Given the description of an element on the screen output the (x, y) to click on. 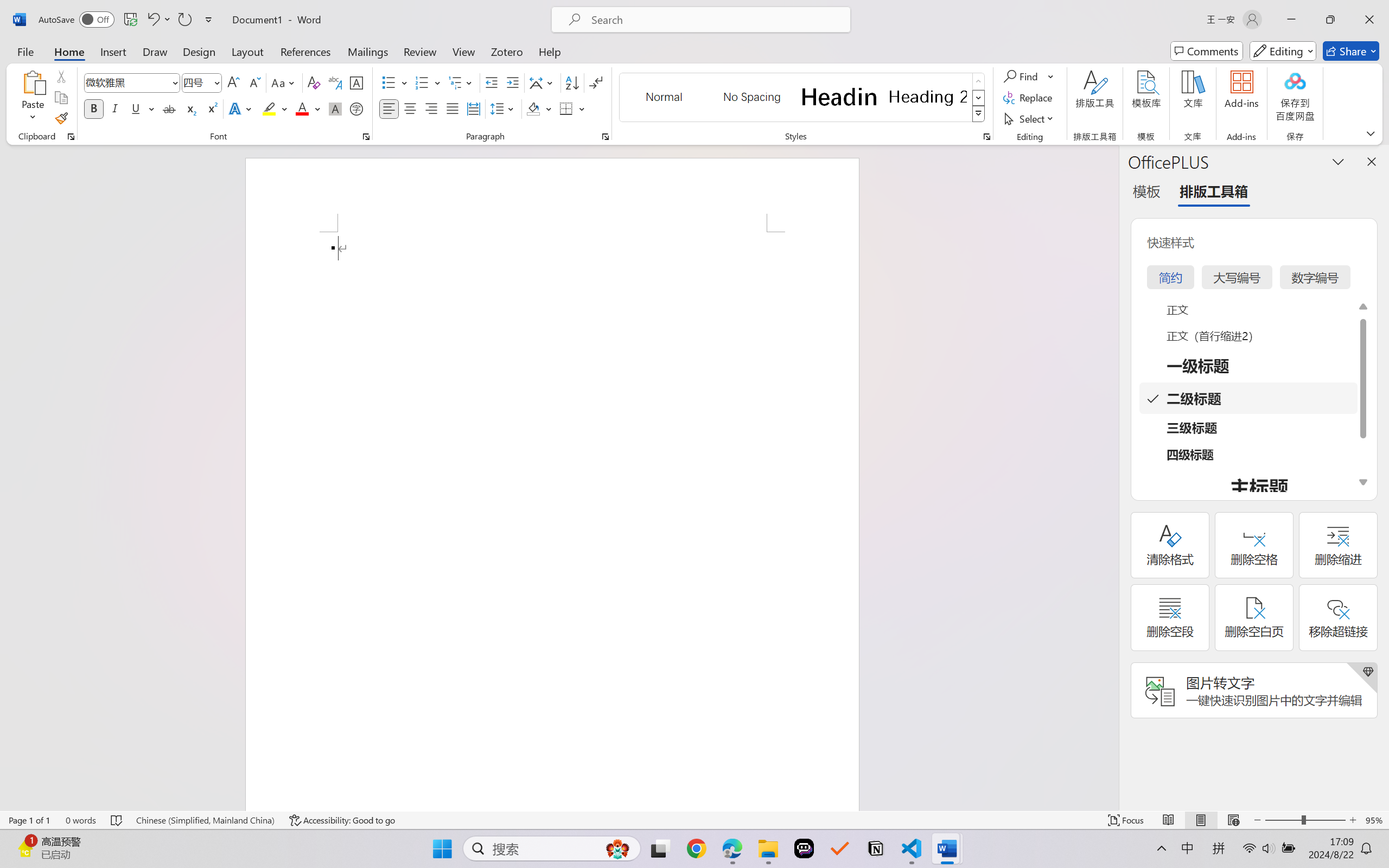
Font Color Red (302, 108)
